Given the description of an element on the screen output the (x, y) to click on. 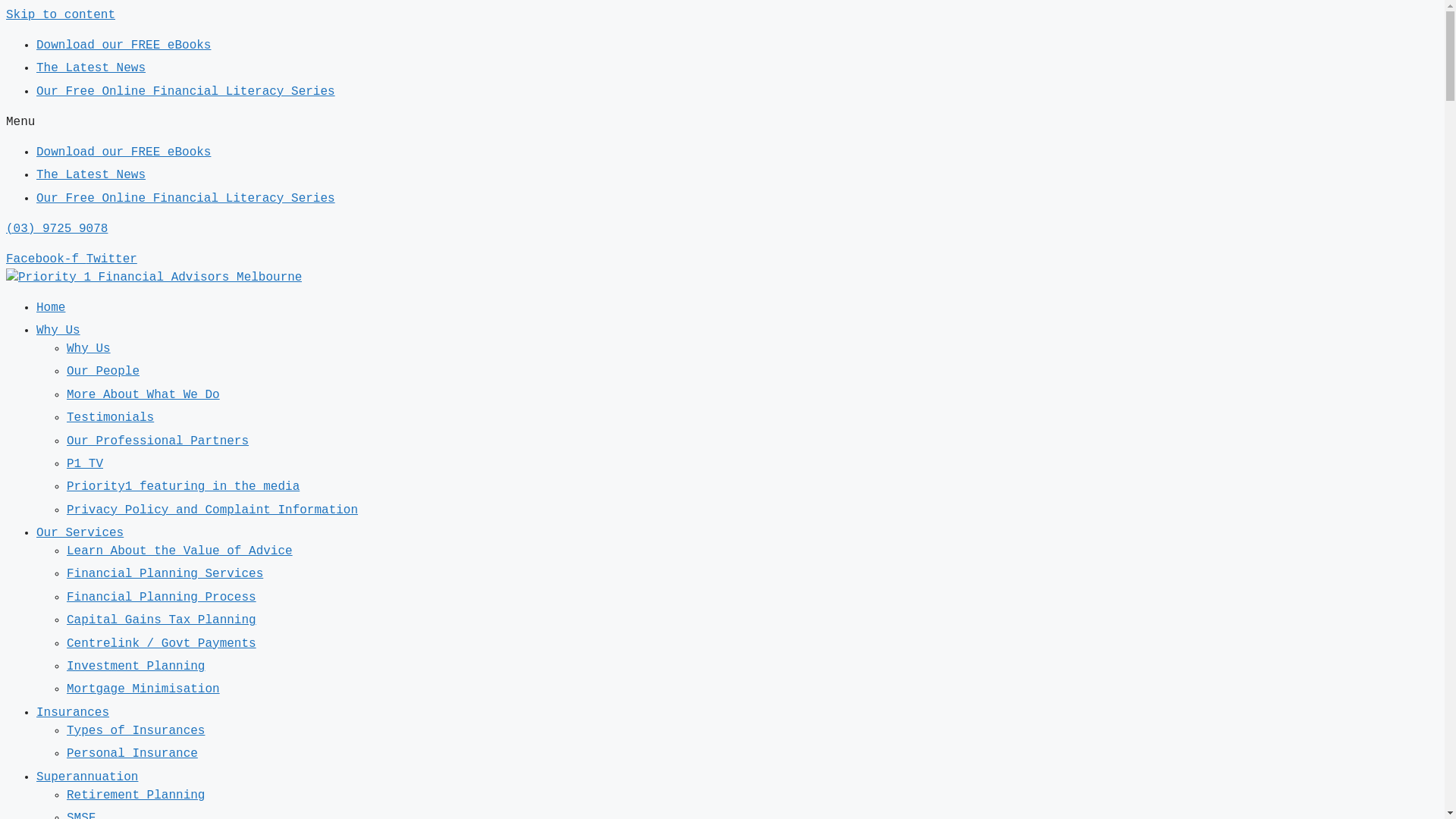
Home Element type: text (50, 307)
Priority1 featuring in the media Element type: text (182, 486)
Our Free Online Financial Literacy Series Element type: text (185, 198)
P1 TV Element type: text (84, 463)
Learn About the Value of Advice Element type: text (179, 551)
Our Free Online Financial Literacy Series Element type: text (185, 91)
Why Us Element type: text (58, 330)
Download our FREE eBooks Element type: text (123, 152)
Our Professional Partners Element type: text (157, 441)
Financial Planning Process Element type: text (161, 597)
Retirement Planning Element type: text (135, 795)
Financial Planning Services Element type: text (164, 573)
Our People Element type: text (102, 371)
The Latest News Element type: text (90, 68)
Testimonials Element type: text (109, 417)
Personal Insurance Element type: text (131, 753)
Download our FREE eBooks Element type: text (123, 45)
Skip to content Element type: text (60, 14)
Mortgage Minimisation Element type: text (142, 689)
Why Us Element type: text (88, 348)
Types of Insurances Element type: text (135, 730)
Centrelink / Govt Payments Element type: text (161, 643)
Investment Planning Element type: text (135, 666)
(03) 9725 9078 Element type: text (56, 228)
Insurances Element type: text (72, 712)
Privacy Policy and Complaint Information Element type: text (211, 510)
Our Services Element type: text (79, 532)
Twitter Element type: text (111, 259)
Superannuation Element type: text (87, 777)
More About What We Do Element type: text (142, 394)
Facebook-f Element type: text (46, 259)
The Latest News Element type: text (90, 175)
Capital Gains Tax Planning Element type: text (161, 620)
